Given the description of an element on the screen output the (x, y) to click on. 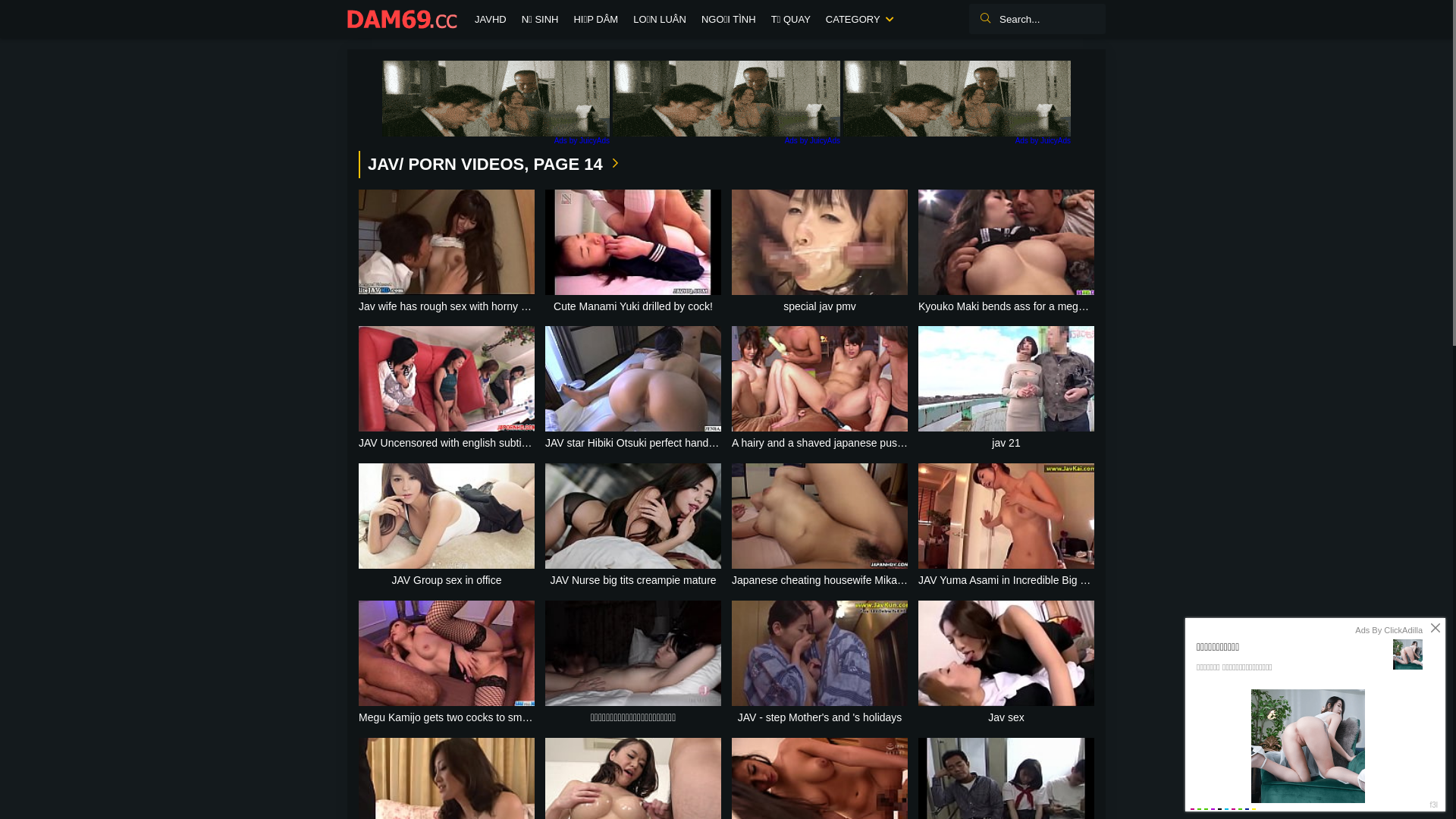
JAVHD Element type: text (490, 19)
Kyouko Maki bends ass for a mega naughty JAV doggy Element type: text (1006, 252)
CATEGORY Element type: text (858, 19)
JAV star Hibiki Otsuki perfect handjob and blowjob Subtitles Element type: text (633, 388)
jav 21 Element type: text (1006, 388)
JAV - step Mother's and 's holidays Element type: text (819, 663)
Jav sex Element type: text (1006, 663)
JAV Group sex in office Element type: text (446, 526)
Jav wife has rough sex with horny husband Element type: text (446, 252)
JAV Nurse big tits creampie mature Element type: text (633, 526)
special jav pmv Element type: text (819, 252)
Cute Manami Yuki drilled by cock! Element type: text (633, 252)
JAV Yuma Asami in Incredible Big Tits, Cunnilingus JAV movie Element type: text (1006, 526)
Megu Kamijo gets two cocks to smash her holes Element type: text (446, 663)
